Given the description of an element on the screen output the (x, y) to click on. 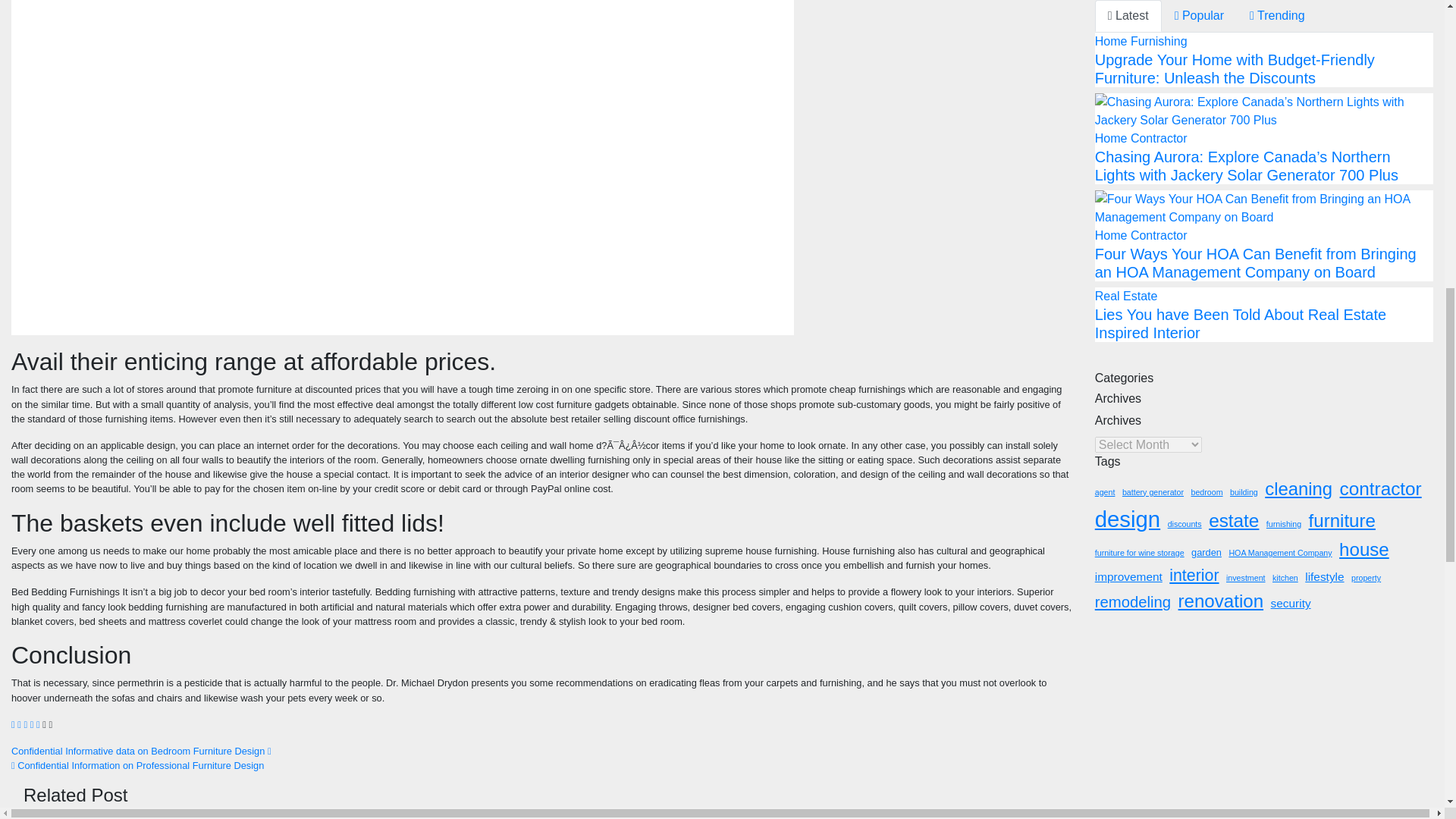
Home Furnishing (422, 816)
Home Furnishing (775, 816)
Confidential Information on Professional Furniture Design (137, 765)
Confidential Informative data on Bedroom Furniture Design (140, 750)
Home Furnishing (69, 816)
